Given the description of an element on the screen output the (x, y) to click on. 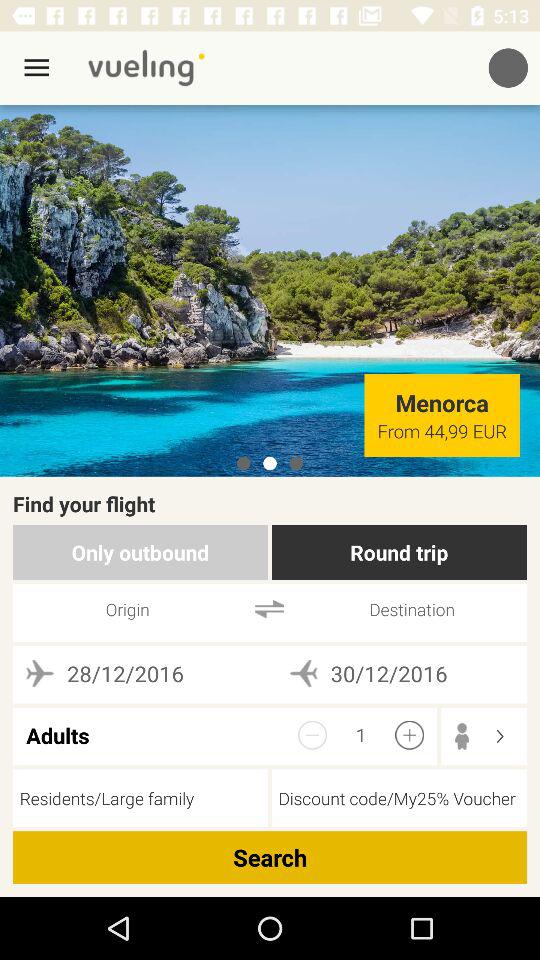
go to the icon right to plus icon (468, 736)
